Given the description of an element on the screen output the (x, y) to click on. 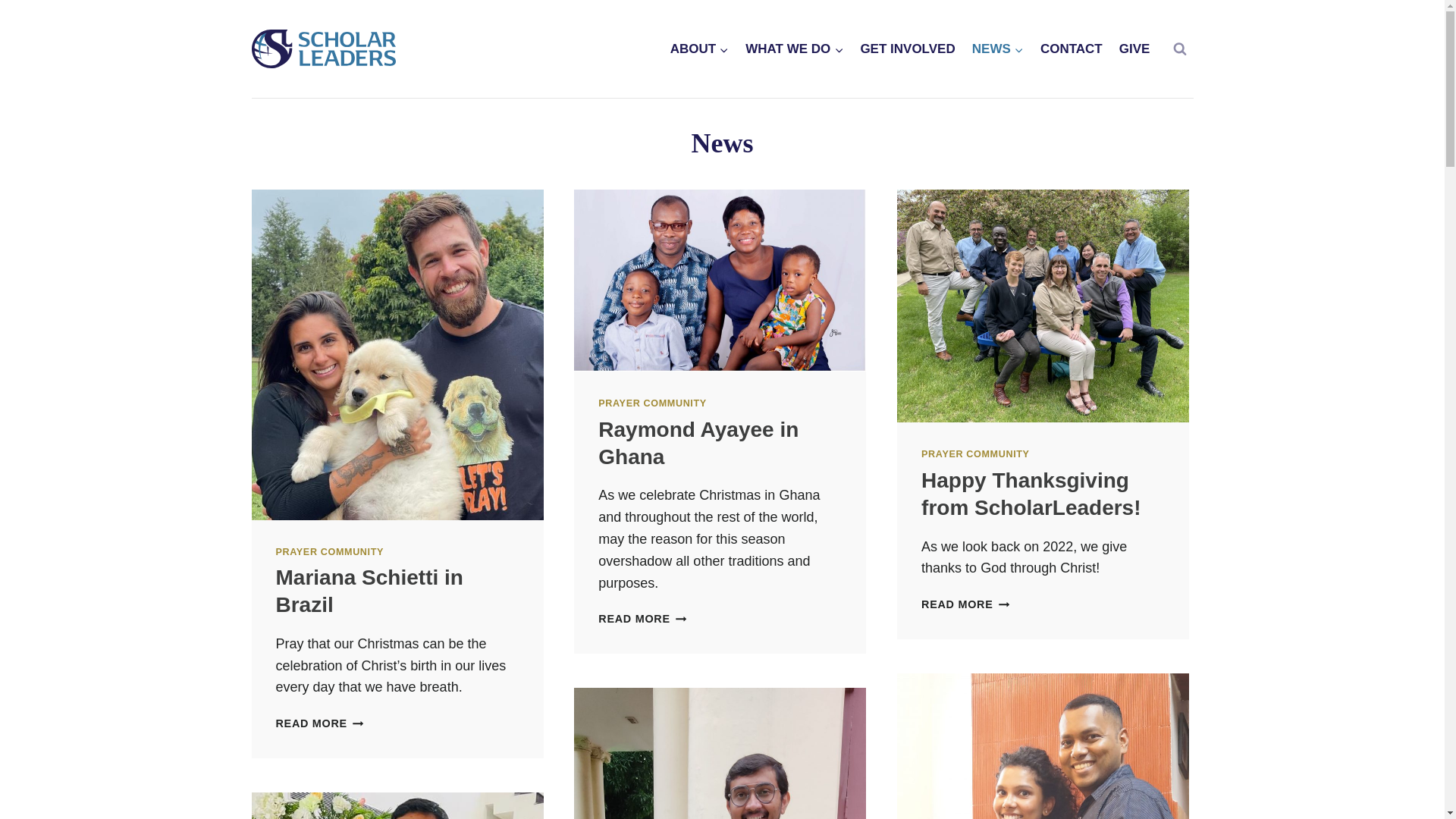
NEWS (641, 618)
Happy Thanksgiving from ScholarLeaders! (997, 49)
PRAYER COMMUNITY (1030, 493)
PRAYER COMMUNITY (330, 552)
GIVE (652, 403)
PRAYER COMMUNITY (1134, 49)
ABOUT (975, 453)
Mariana Schietti in Brazil (700, 49)
